Given the description of an element on the screen output the (x, y) to click on. 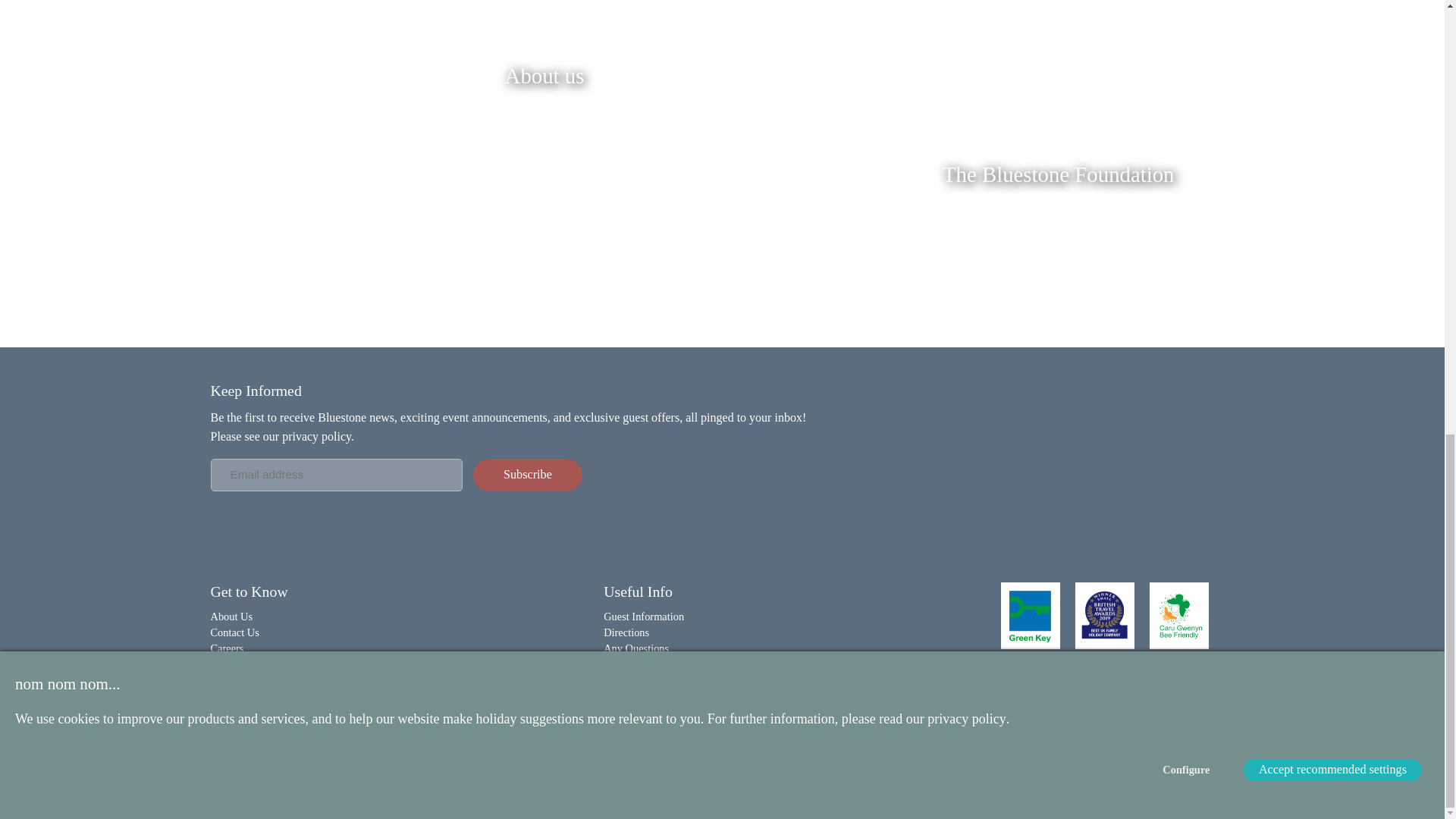
Subscribe (527, 474)
Careers (227, 648)
Directions (626, 632)
Booking Terms and Condition (636, 775)
About Us (232, 616)
Sign up (527, 474)
Please see our privacy policy. (283, 436)
Guest Information (644, 616)
Help (614, 664)
Sustainability and our Environment (288, 664)
